Given the description of an element on the screen output the (x, y) to click on. 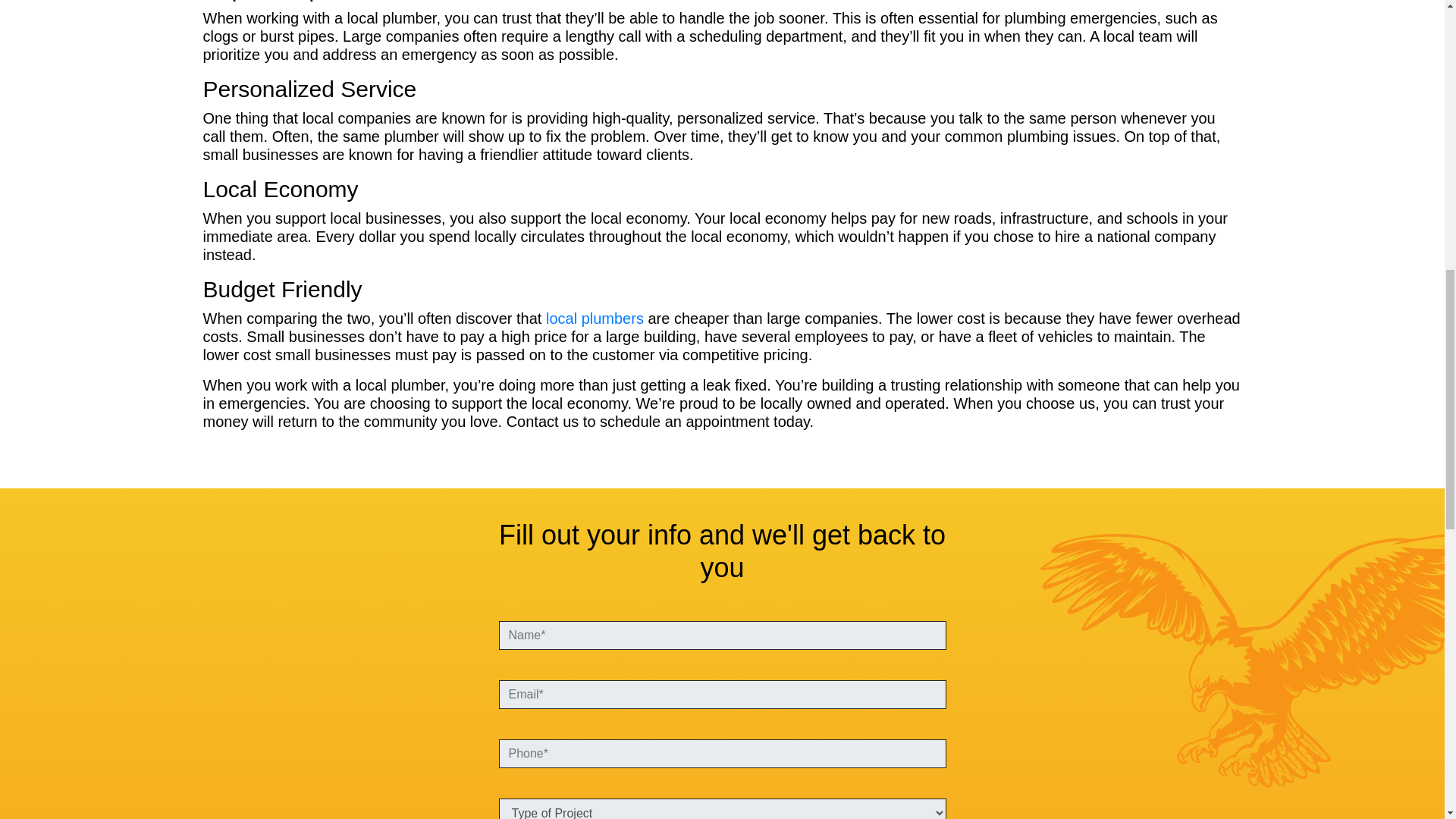
local plumbers (594, 318)
